Given the description of an element on the screen output the (x, y) to click on. 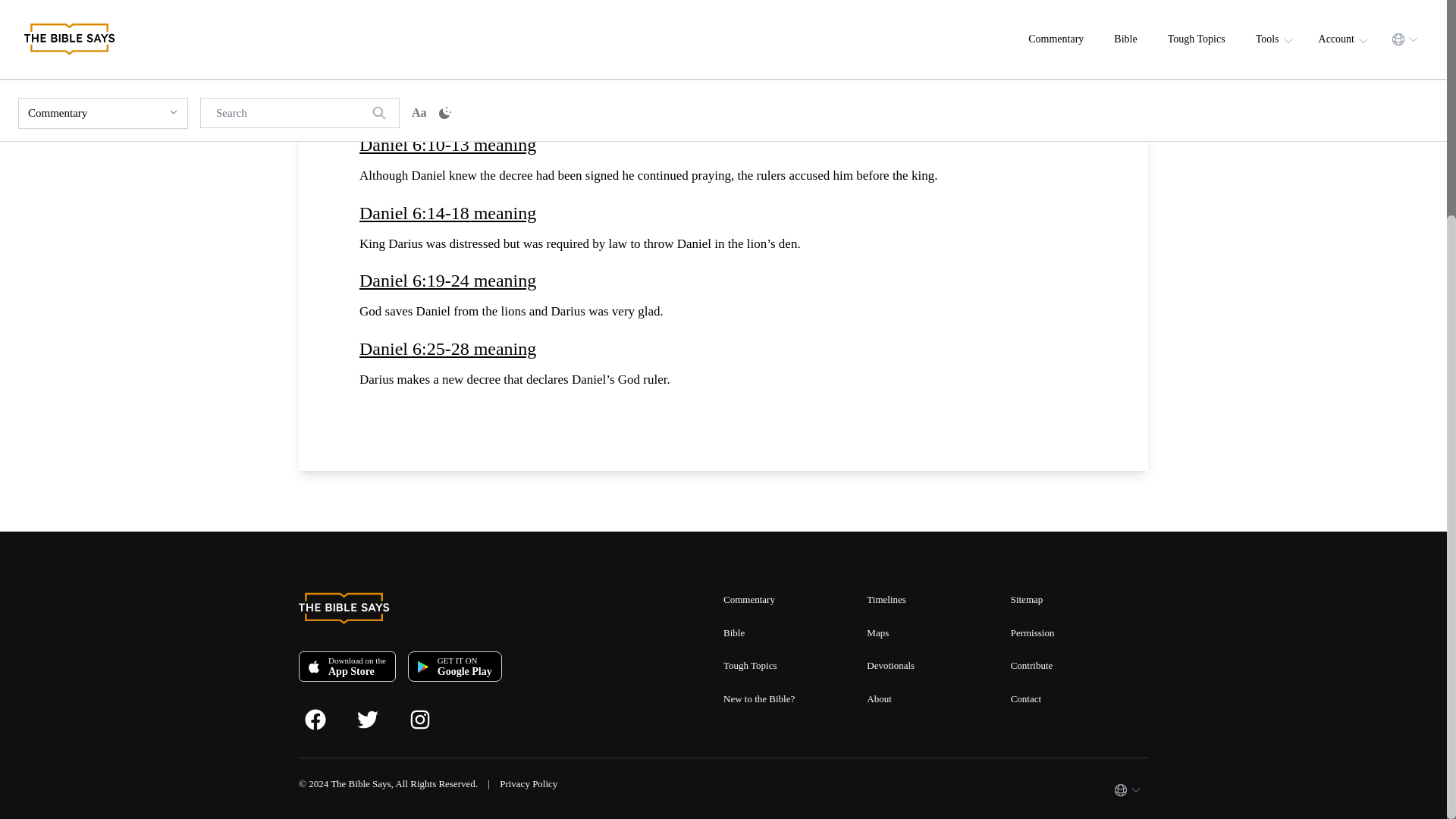
Select Language (1127, 789)
Privacy Policy (528, 783)
Facebook (330, 718)
Commentary (748, 599)
Devotionals (890, 665)
Maps (877, 632)
Contact (1025, 697)
Twitter (382, 718)
Tough Topics (750, 665)
Daniel 6:1-5 meaning (723, 10)
Daniel 6:14-18 meaning (723, 212)
Sitemap (1026, 599)
New to the Bible? (758, 697)
Daniel 6:19-24 meaning (723, 280)
Contribute (1031, 665)
